Given the description of an element on the screen output the (x, y) to click on. 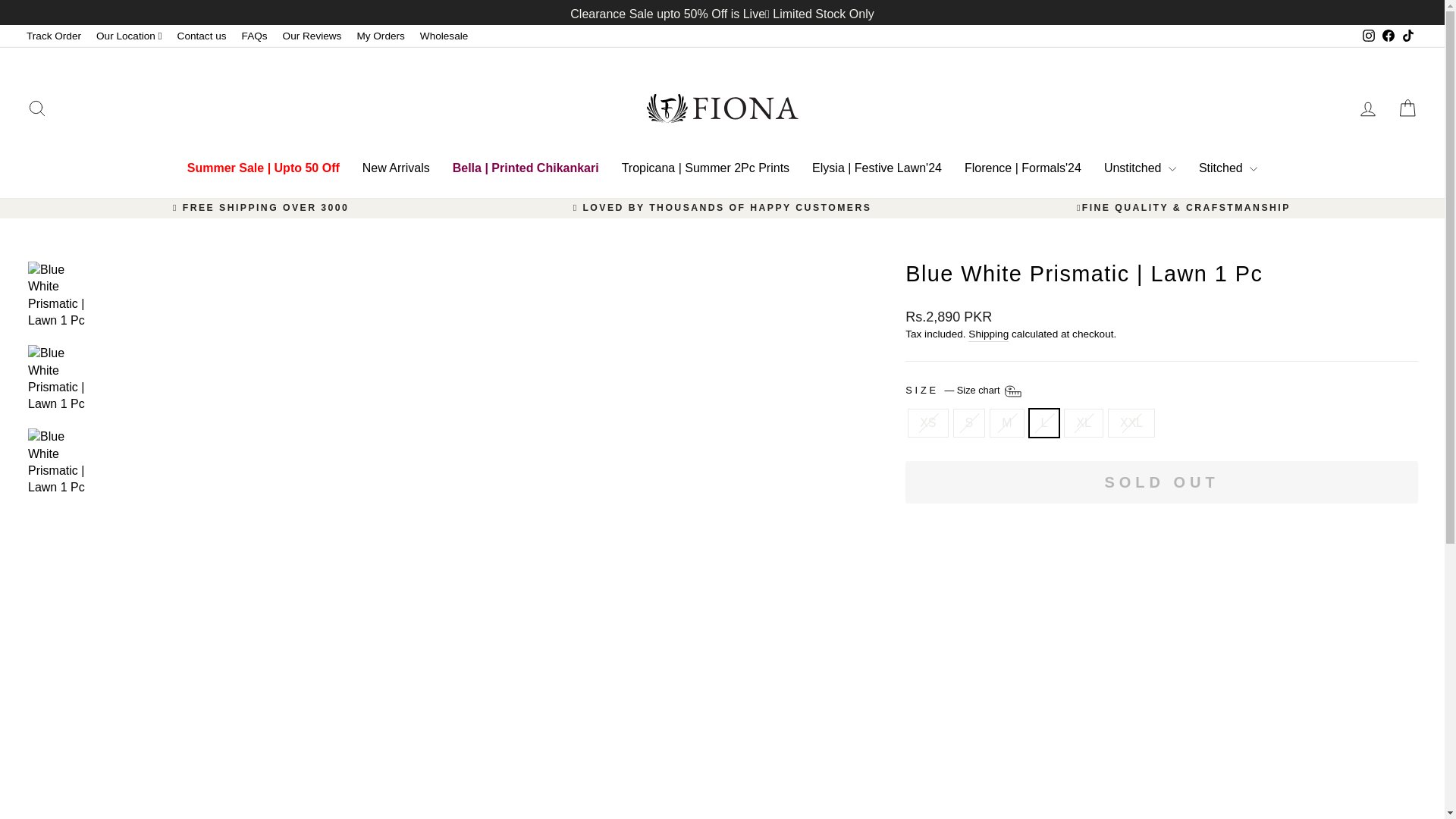
Fiona on TikTok (1407, 35)
icon-search (37, 107)
account (1367, 108)
Fiona on Facebook (1387, 35)
